Given the description of an element on the screen output the (x, y) to click on. 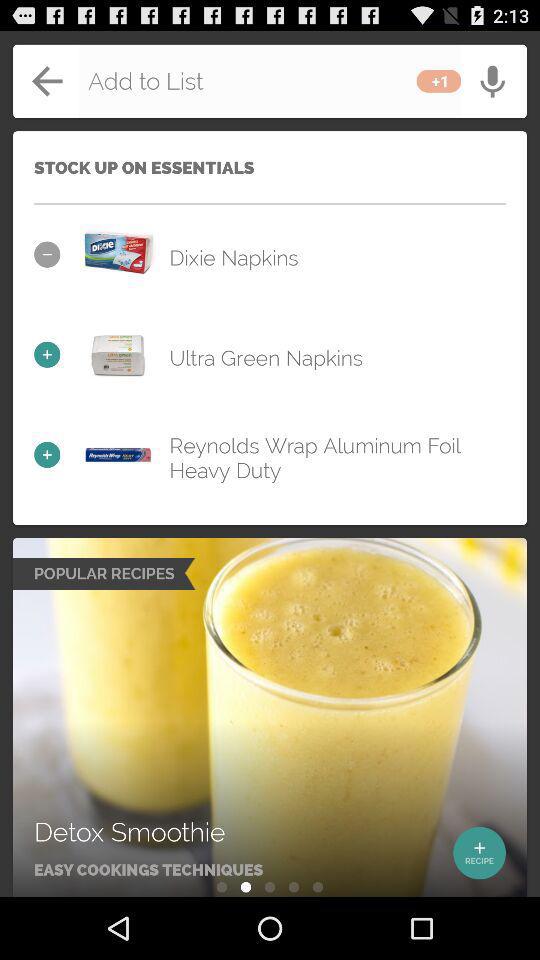
click back to add to list and or speak (269, 81)
